Given the description of an element on the screen output the (x, y) to click on. 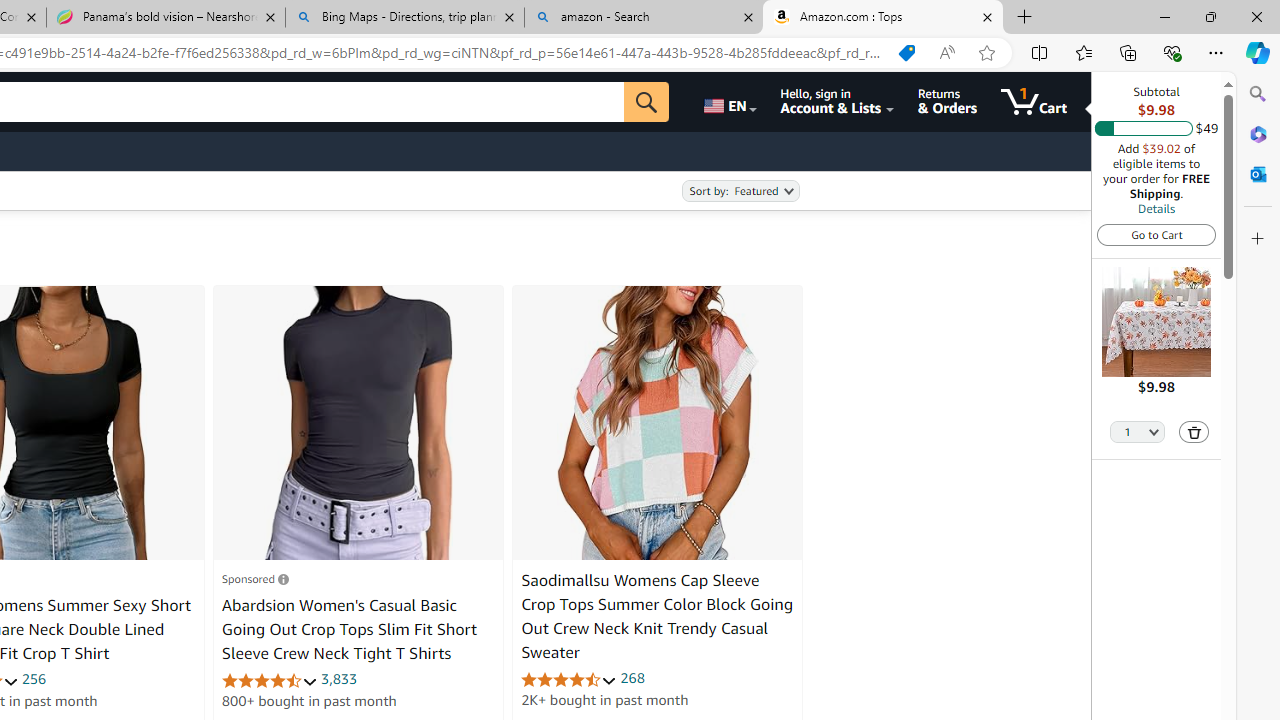
View Sponsored information or leave ad feedback (255, 578)
4.3 out of 5 stars (269, 680)
amazon - Search (643, 17)
Amazon.com : Tops (883, 17)
Choose a language for shopping. (728, 101)
Hello, sign in Account & Lists (836, 101)
1 item in cart (1034, 101)
